Given the description of an element on the screen output the (x, y) to click on. 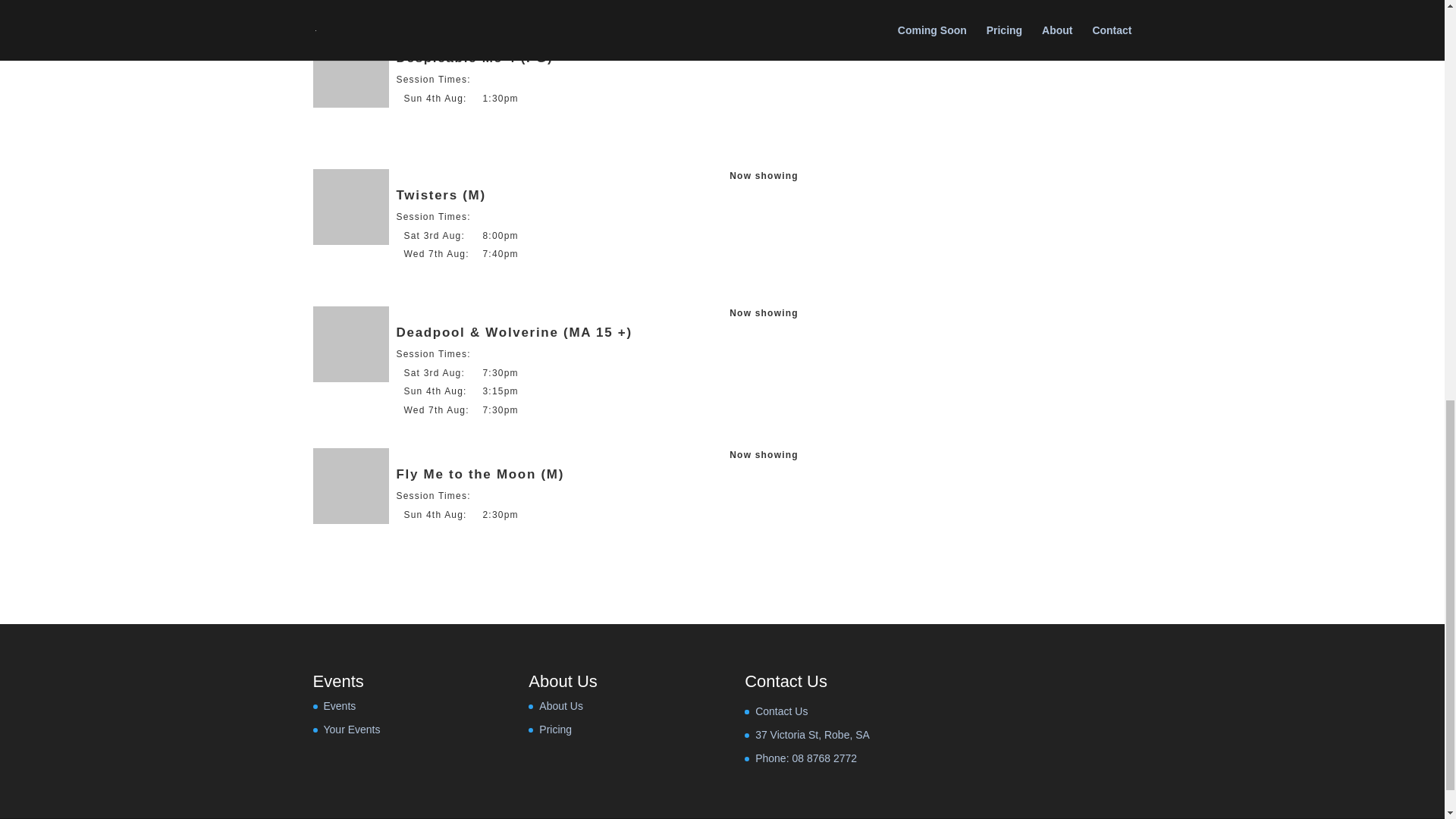
3:15pm (499, 390)
8:00pm (499, 235)
7:40pm (499, 253)
Fly Me to the Moon (350, 485)
Now showing (763, 312)
Now showing (763, 38)
1:30pm (499, 98)
Now showing (763, 175)
Despicable Me 4 (350, 69)
Events (339, 705)
7:30pm (499, 409)
7:30pm (499, 372)
Twisters (350, 206)
Now showing (763, 454)
Your Events (351, 729)
